Given the description of an element on the screen output the (x, y) to click on. 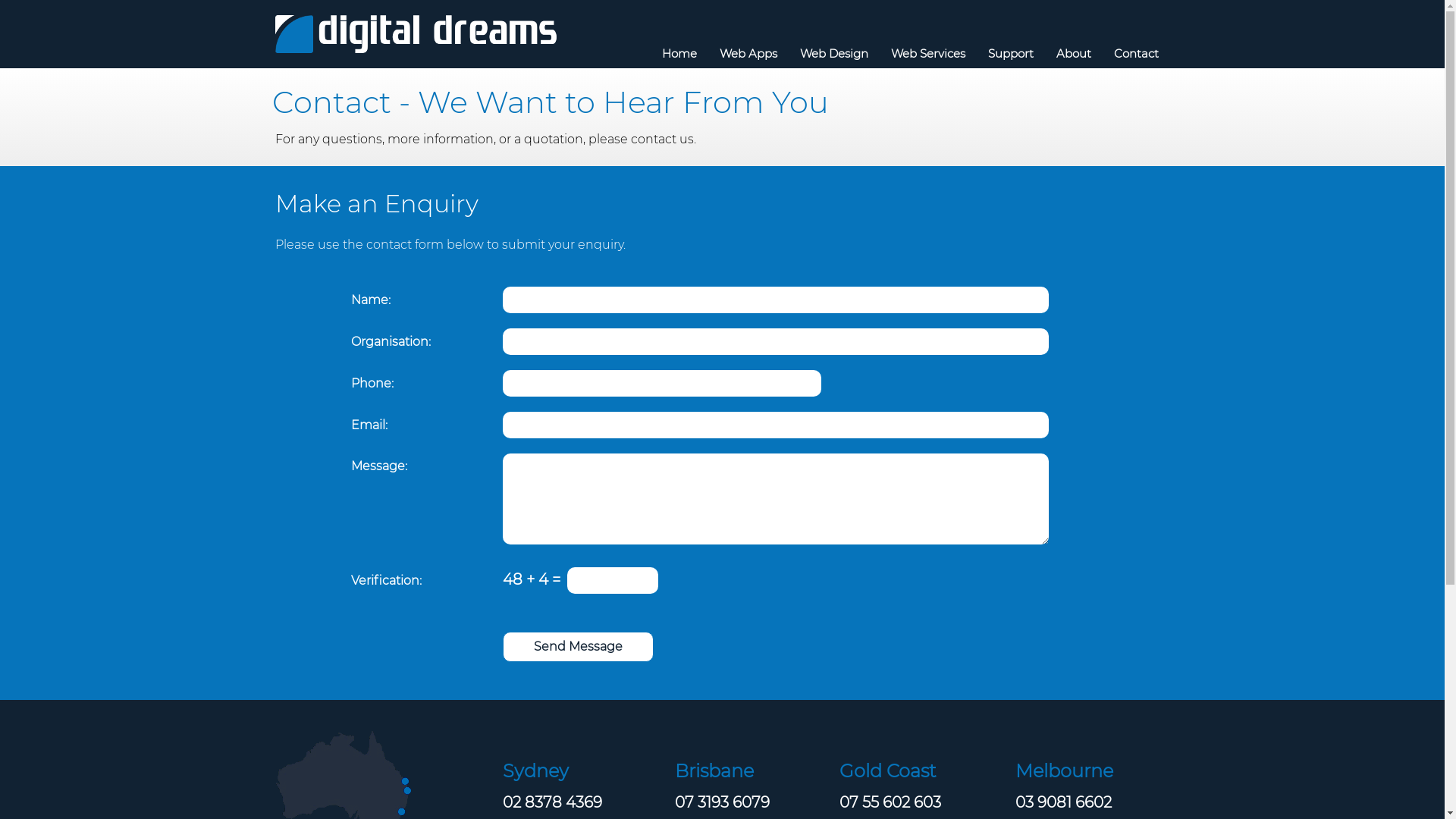
Contact Element type: text (1136, 53)
Home Element type: text (679, 53)
About Element type: text (1073, 53)
Web Services Element type: text (927, 53)
Web Apps Element type: text (748, 53)
Web Design Element type: text (833, 53)
Send Message Element type: text (577, 646)
Support Element type: text (1010, 53)
